Given the description of an element on the screen output the (x, y) to click on. 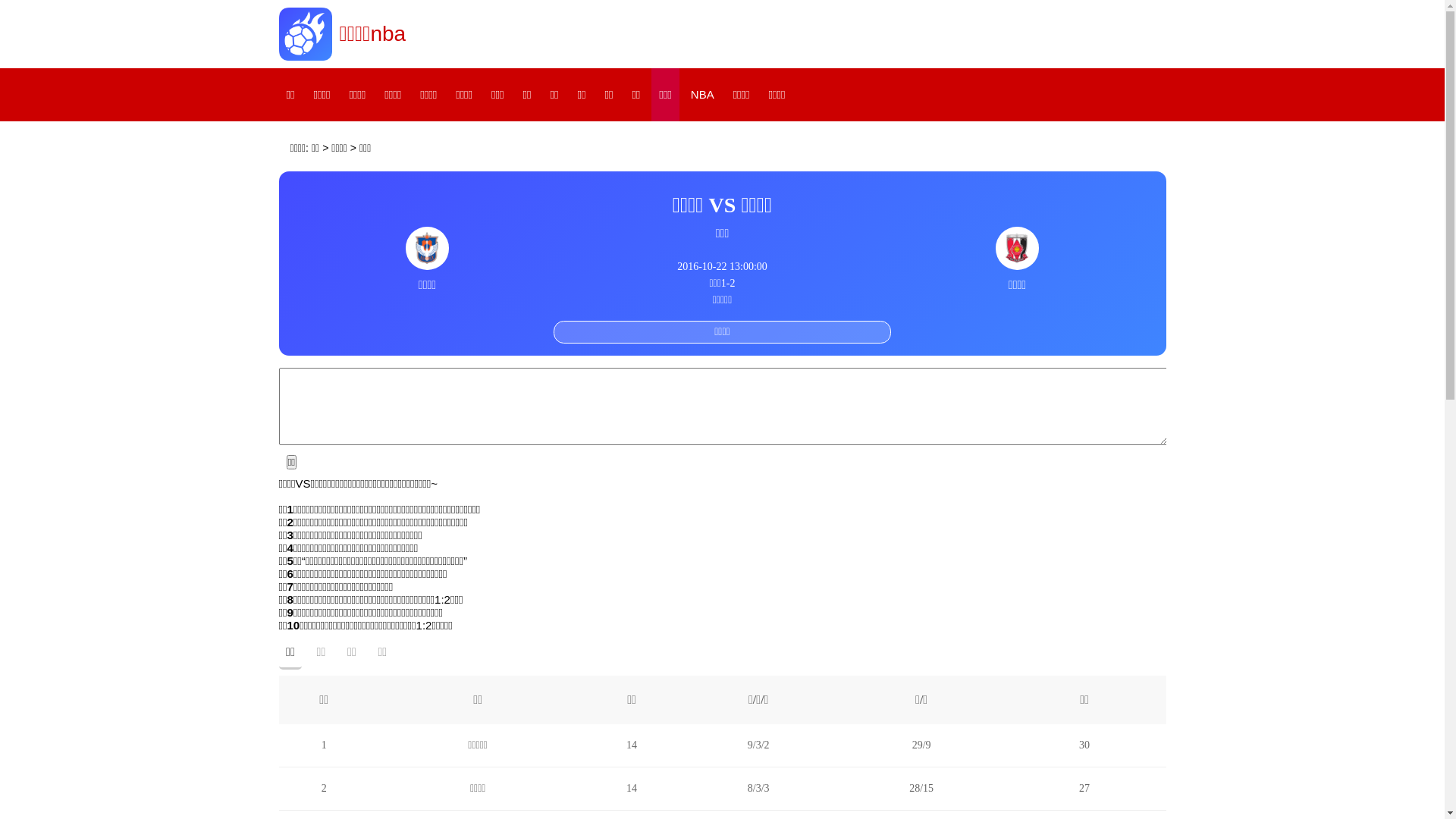
NBA Element type: text (702, 94)
